Given the description of an element on the screen output the (x, y) to click on. 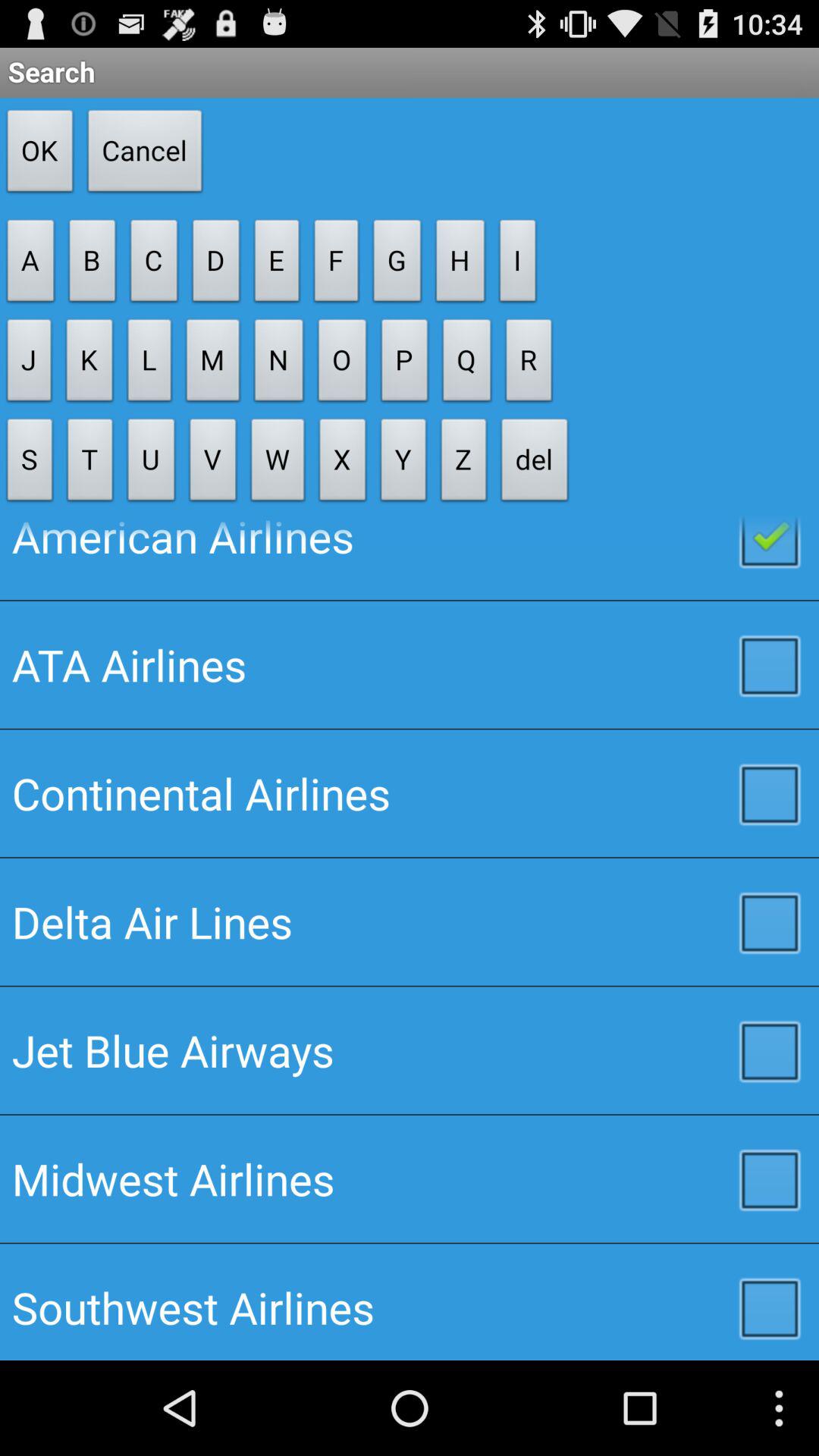
press the item above u button (213, 364)
